Given the description of an element on the screen output the (x, y) to click on. 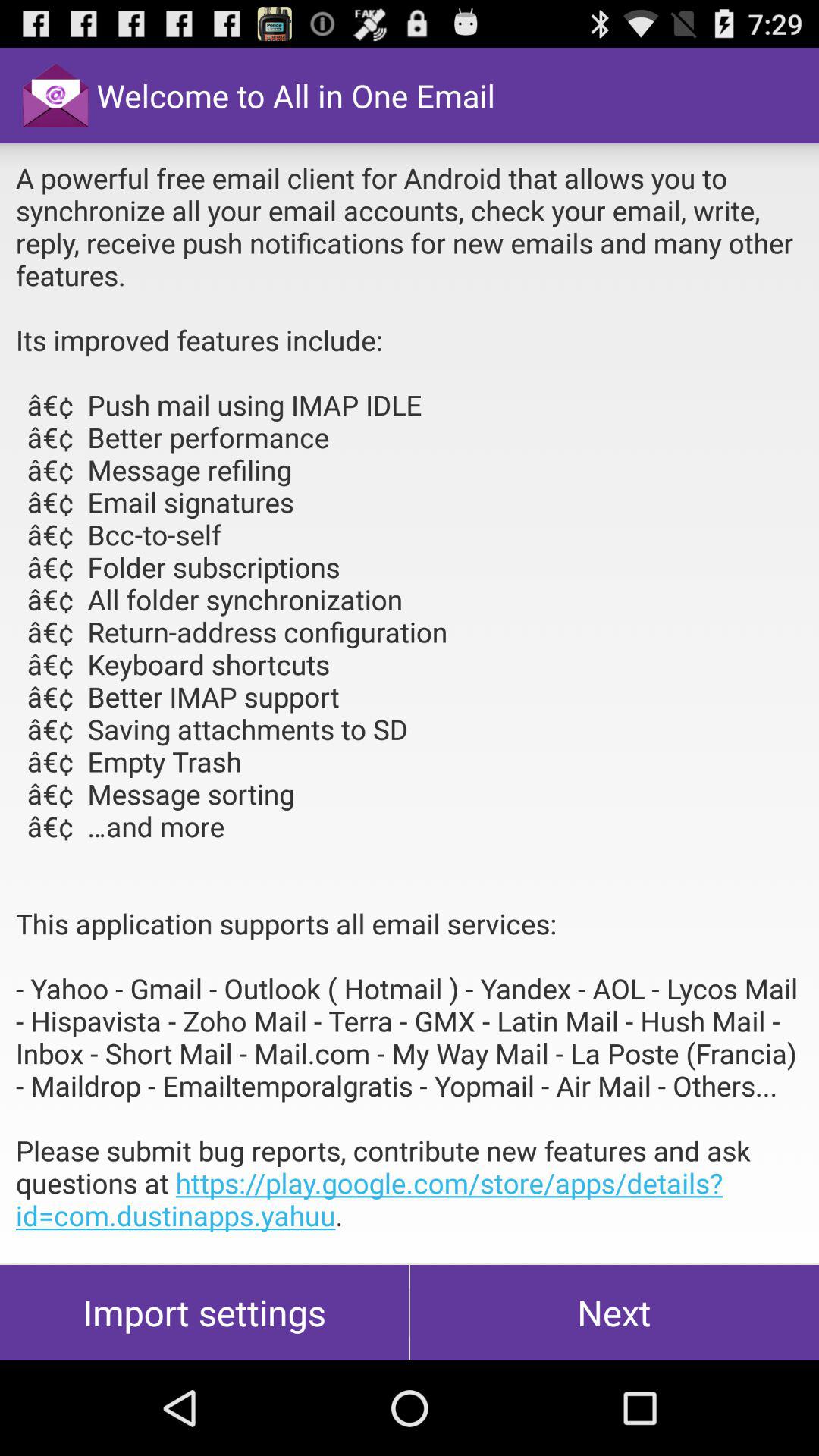
open next button (614, 1312)
